Given the description of an element on the screen output the (x, y) to click on. 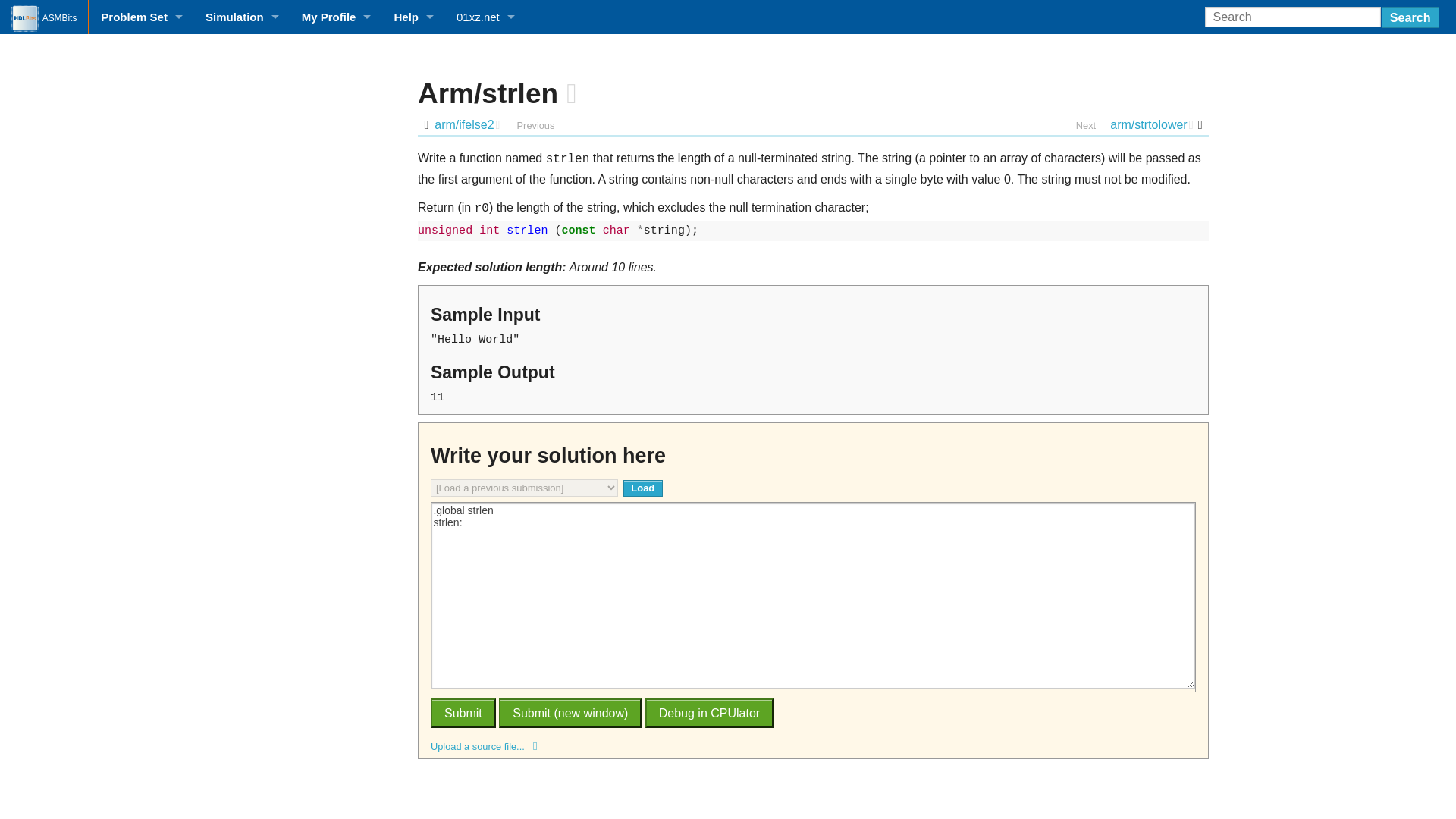
Upload a source file... (812, 745)
Help (413, 17)
Load (643, 488)
Simulation (241, 17)
Debug in CPUlator (709, 713)
Submit (463, 713)
01xz.net (485, 17)
Problem Set (140, 17)
My Profile (335, 17)
ASMBits (43, 17)
